Given the description of an element on the screen output the (x, y) to click on. 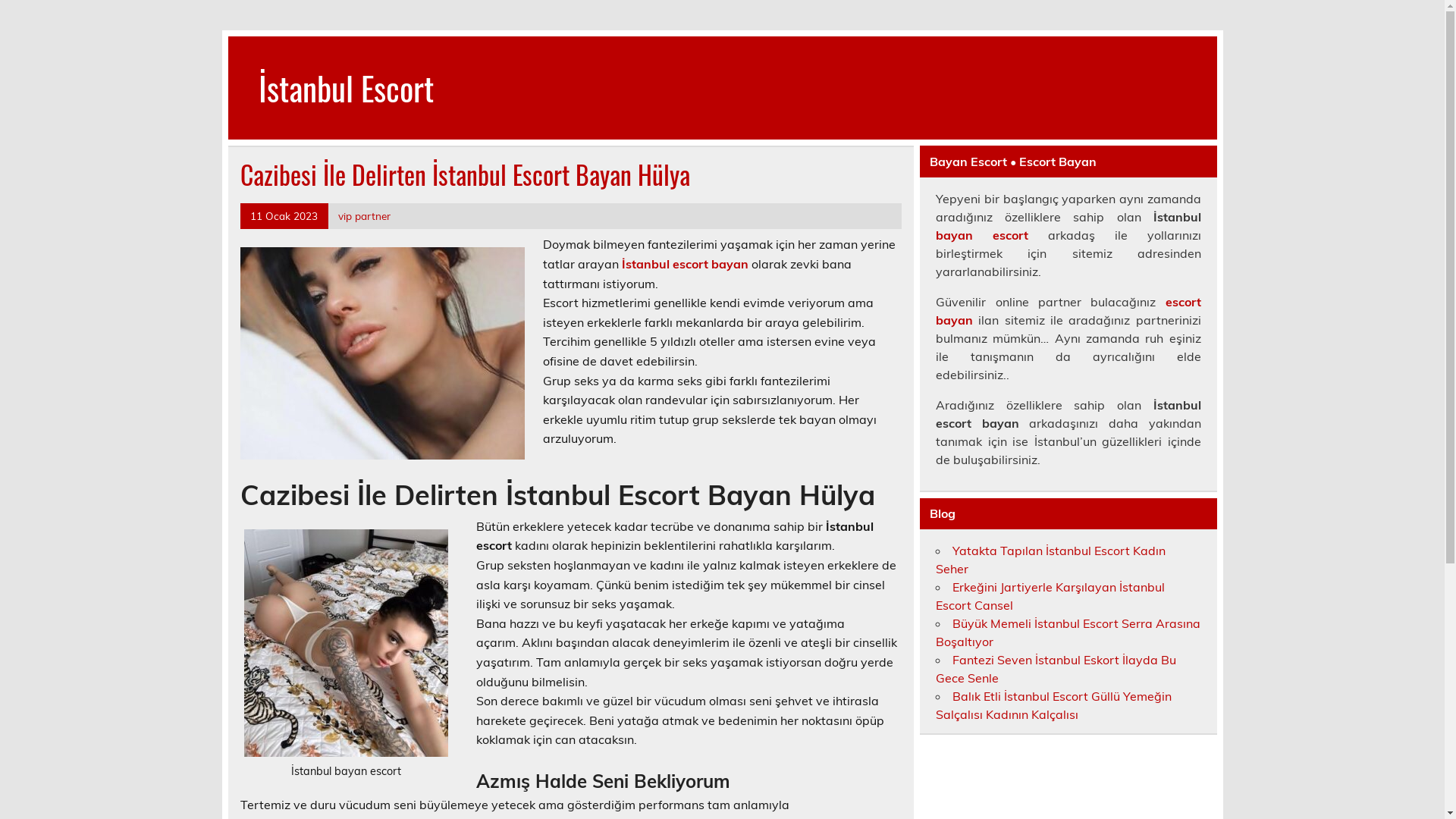
vip partner Element type: text (364, 215)
11 Ocak 2023 Element type: text (283, 215)
bayan escort Element type: text (981, 234)
escort bayan Element type: text (1068, 310)
